Given the description of an element on the screen output the (x, y) to click on. 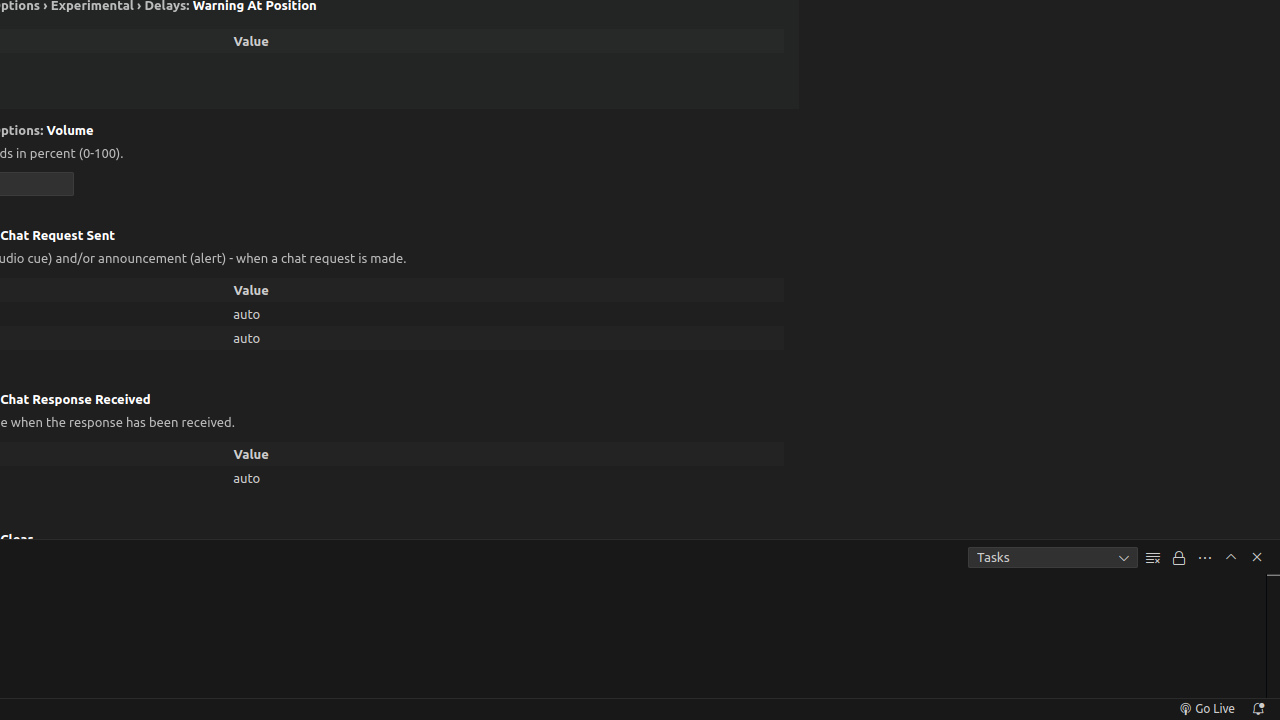
broadcast Go Live, Click to run live server Element type: push-button (1206, 709)
Maximize Panel Size Element type: check-box (1231, 557)
Notifications Element type: push-button (1258, 709)
Tasks Element type: menu-item (1053, 557)
Views and More Actions... Element type: push-button (1205, 557)
